Given the description of an element on the screen output the (x, y) to click on. 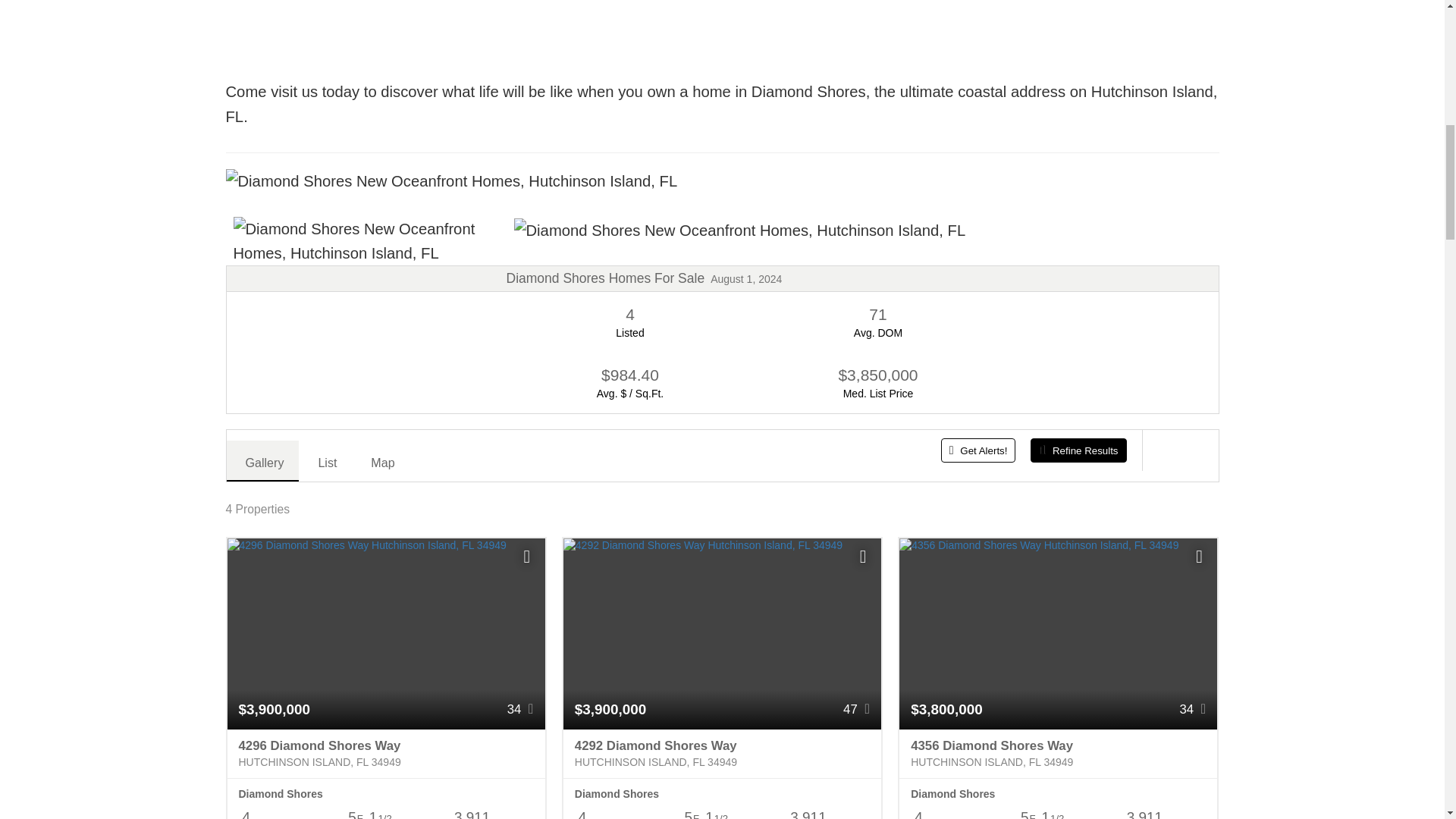
YouTube video player (441, 24)
Diamond Shores New Oceanfront Homes, Hutchinson Island, FL (739, 230)
4296 Diamond Shores Way Hutchinson Island,  FL 34949 (385, 753)
Diamond Shores New Oceanfront Homes, Hutchinson Island, FL (451, 180)
Diamond Shores New Oceanfront Homes, Hutchinson Island, FL (365, 305)
